Given the description of an element on the screen output the (x, y) to click on. 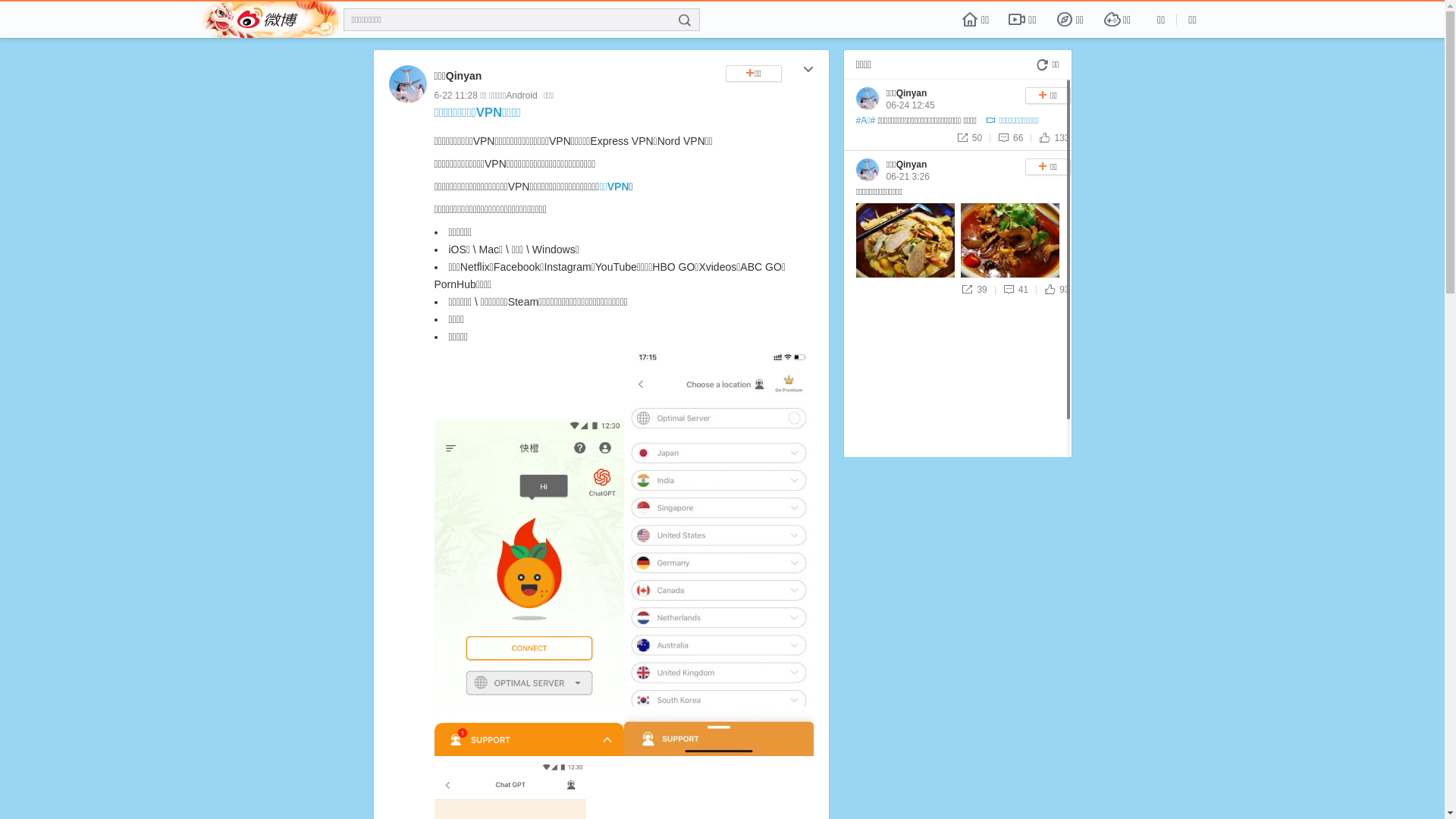
f Element type: text (684, 20)
6-22 11:28 Element type: text (454, 95)
06-24 12:45 Element type: text (909, 105)
c Element type: text (808, 70)
06-21 3:26 Element type: text (906, 176)
